Given the description of an element on the screen output the (x, y) to click on. 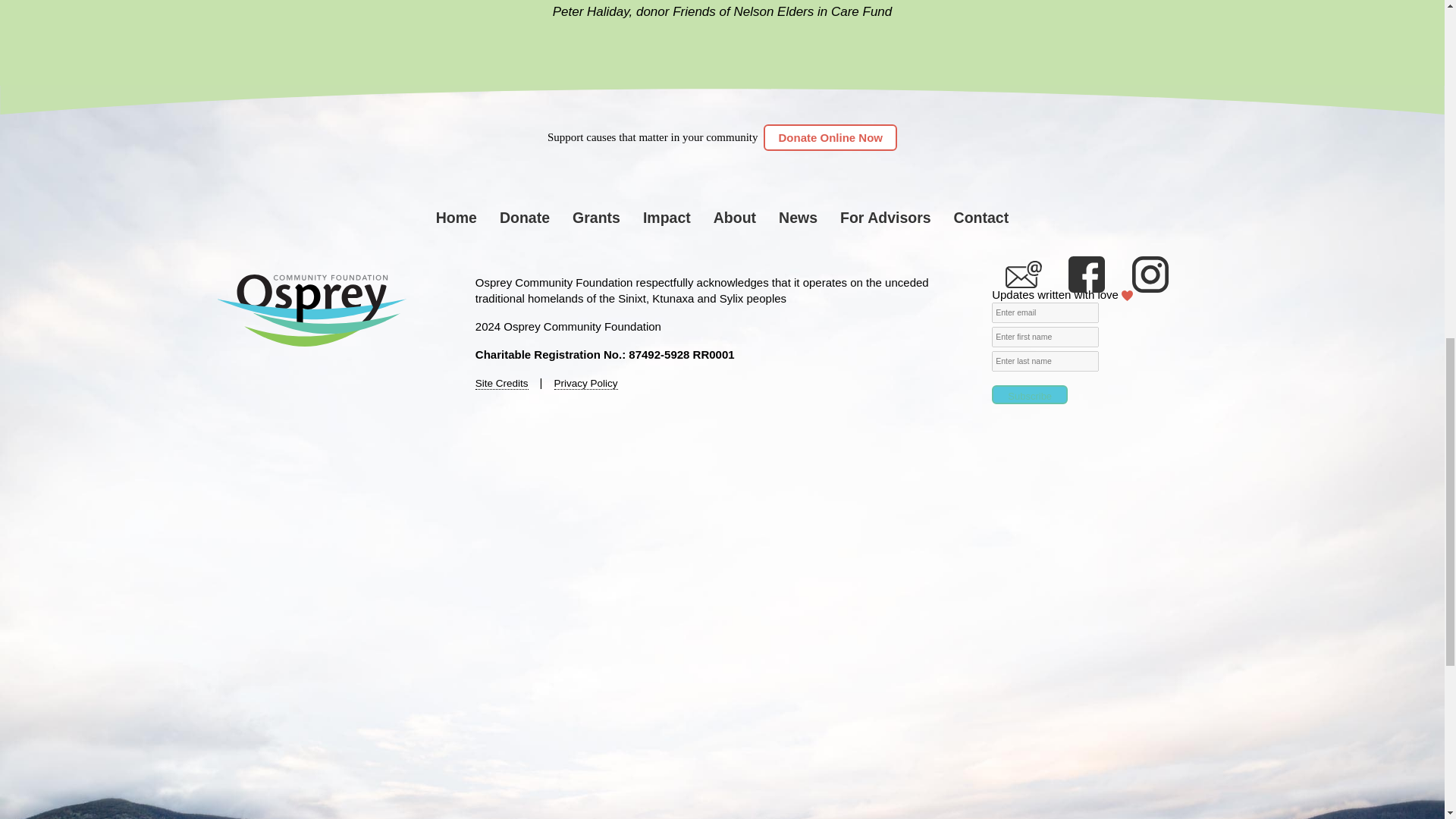
Impact (666, 217)
Subscribe (1029, 394)
News (797, 217)
Grants (596, 217)
Privacy Policy (585, 383)
For Advisors (885, 217)
About (734, 217)
Site Credits (502, 383)
Donate Online Now (829, 137)
Home (456, 217)
Contact (981, 217)
Donate (524, 217)
